Given the description of an element on the screen output the (x, y) to click on. 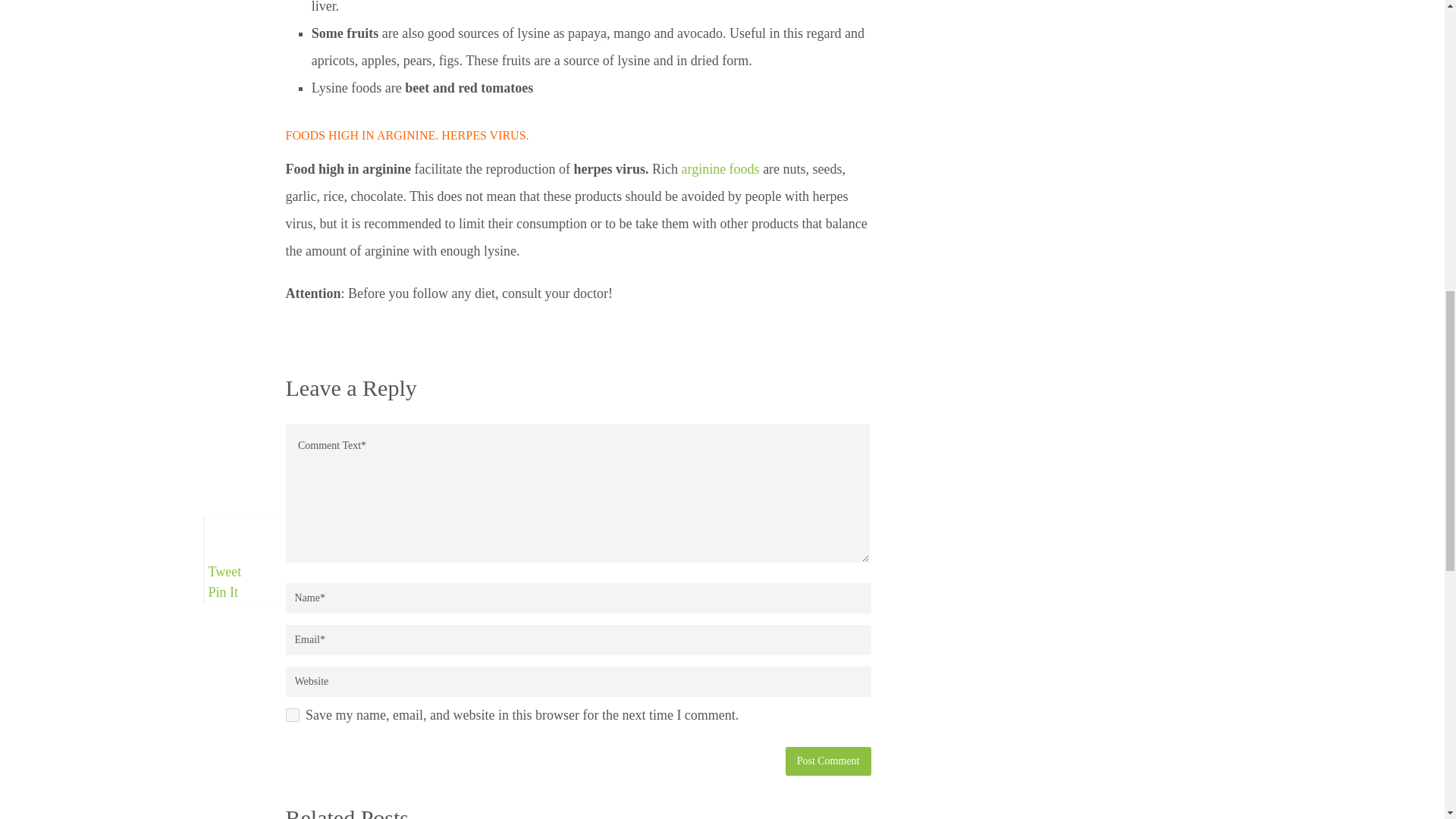
Post Comment (828, 760)
arginine foods (719, 168)
yes (291, 714)
Arginine foods (719, 168)
Post Comment (828, 760)
